Given the description of an element on the screen output the (x, y) to click on. 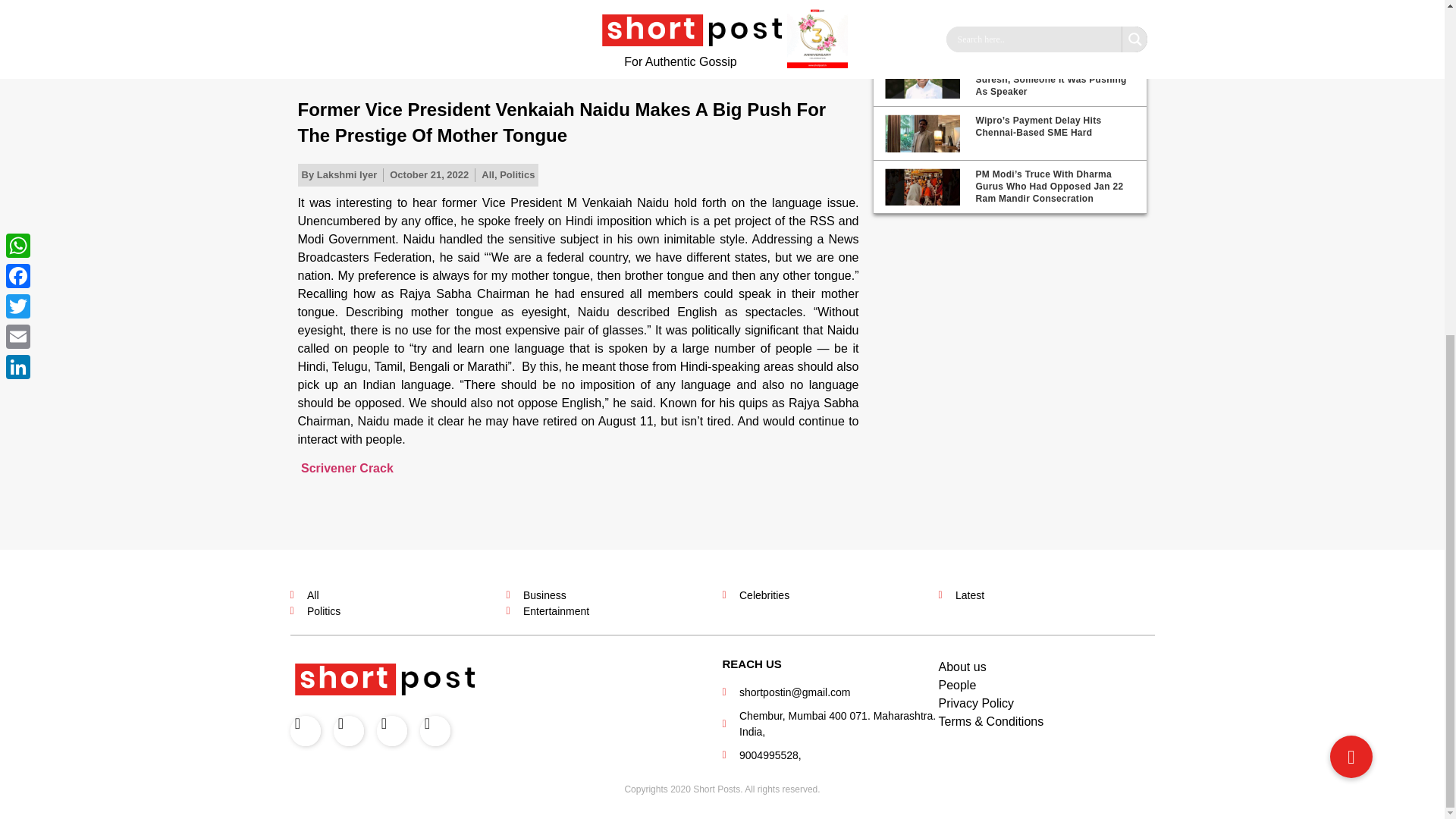
Politics (516, 174)
By Lakshmi Iyer (339, 174)
All (488, 174)
Scrivener Crack (347, 468)
October 21, 2022 (429, 174)
